Given the description of an element on the screen output the (x, y) to click on. 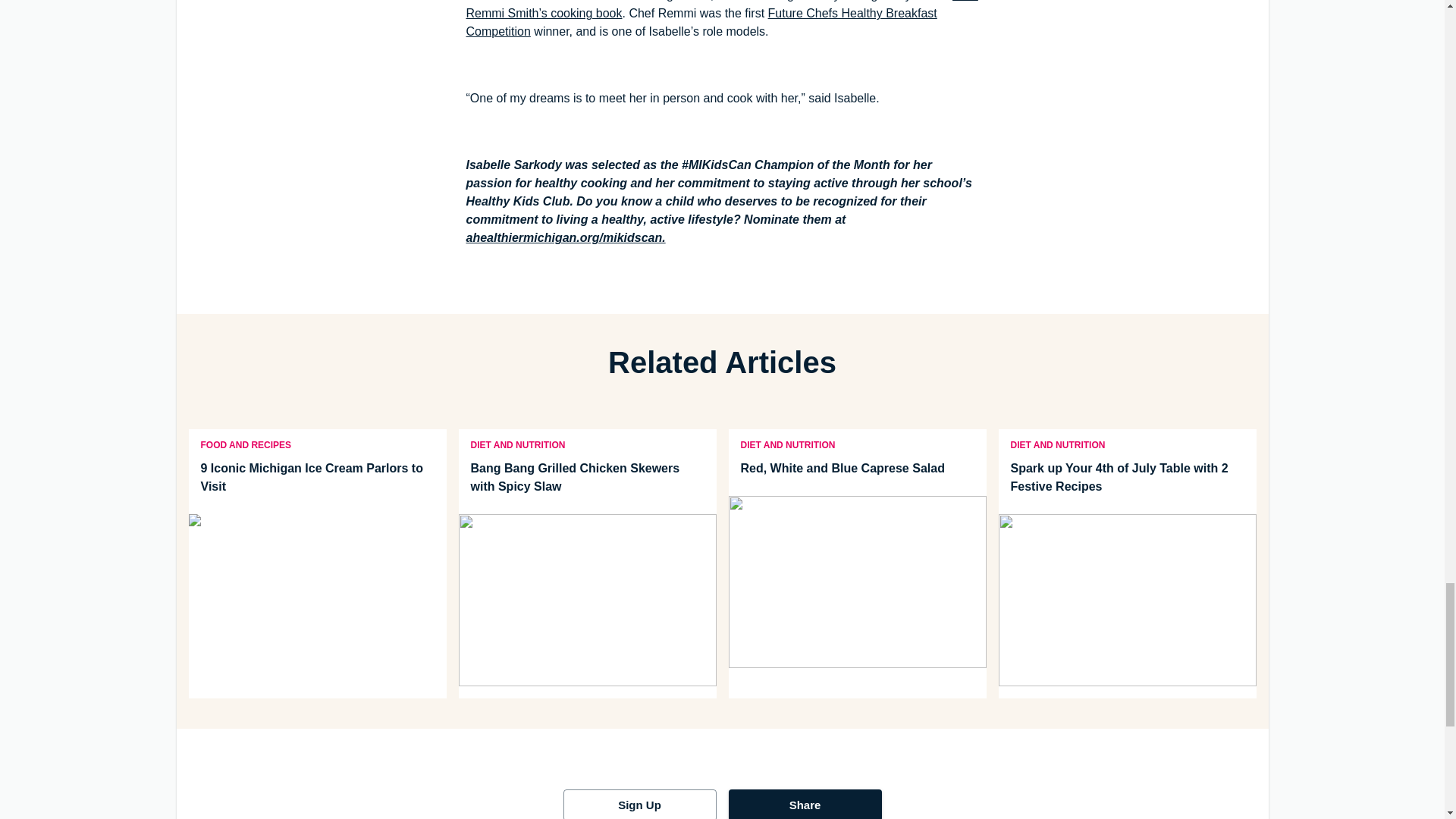
Red, White and Blue Caprese Salad (856, 468)
9 Iconic Michigan Ice Cream Parlors to Visit  (316, 477)
FOOD AND RECIPES (244, 443)
Future Chefs Healthy Breakfast Competition (700, 21)
Bang Bang Grilled Chicken Skewers with Spicy Slaw (587, 477)
DIET AND NUTRITION (517, 443)
DIET AND NUTRITION (787, 443)
